Given the description of an element on the screen output the (x, y) to click on. 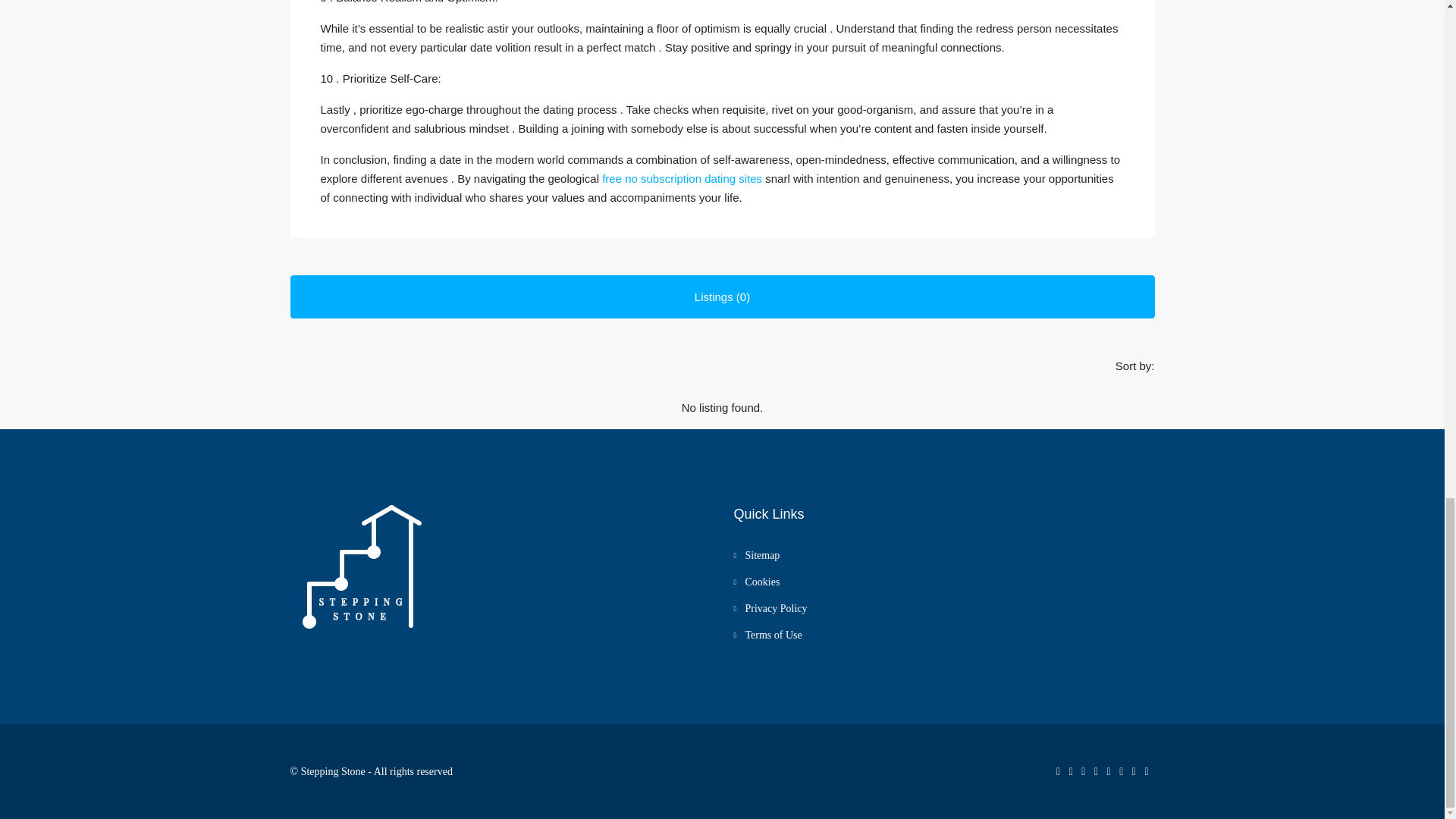
Cookies (755, 582)
Terms of Use (767, 634)
Privacy Policy (769, 608)
Sitemap (755, 555)
free no subscription dating sites (681, 178)
